Given the description of an element on the screen output the (x, y) to click on. 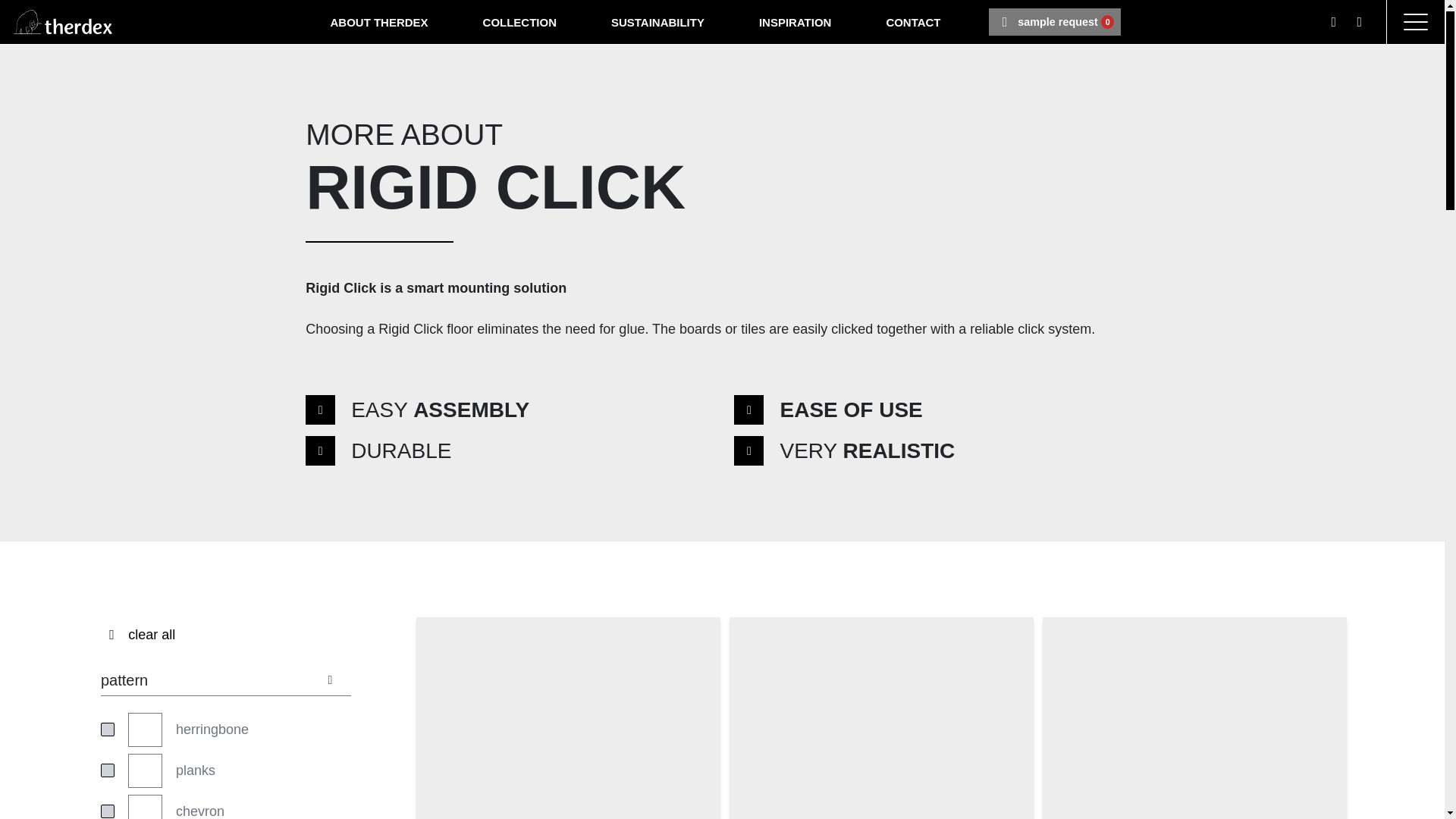
Inspiration (1054, 22)
Contact (795, 21)
SUSTAINABILITY (913, 21)
ABOUT THERDEX (657, 21)
CONTACT (379, 21)
About Therdex (913, 21)
Sustainability (379, 21)
Collection (657, 21)
